Given the description of an element on the screen output the (x, y) to click on. 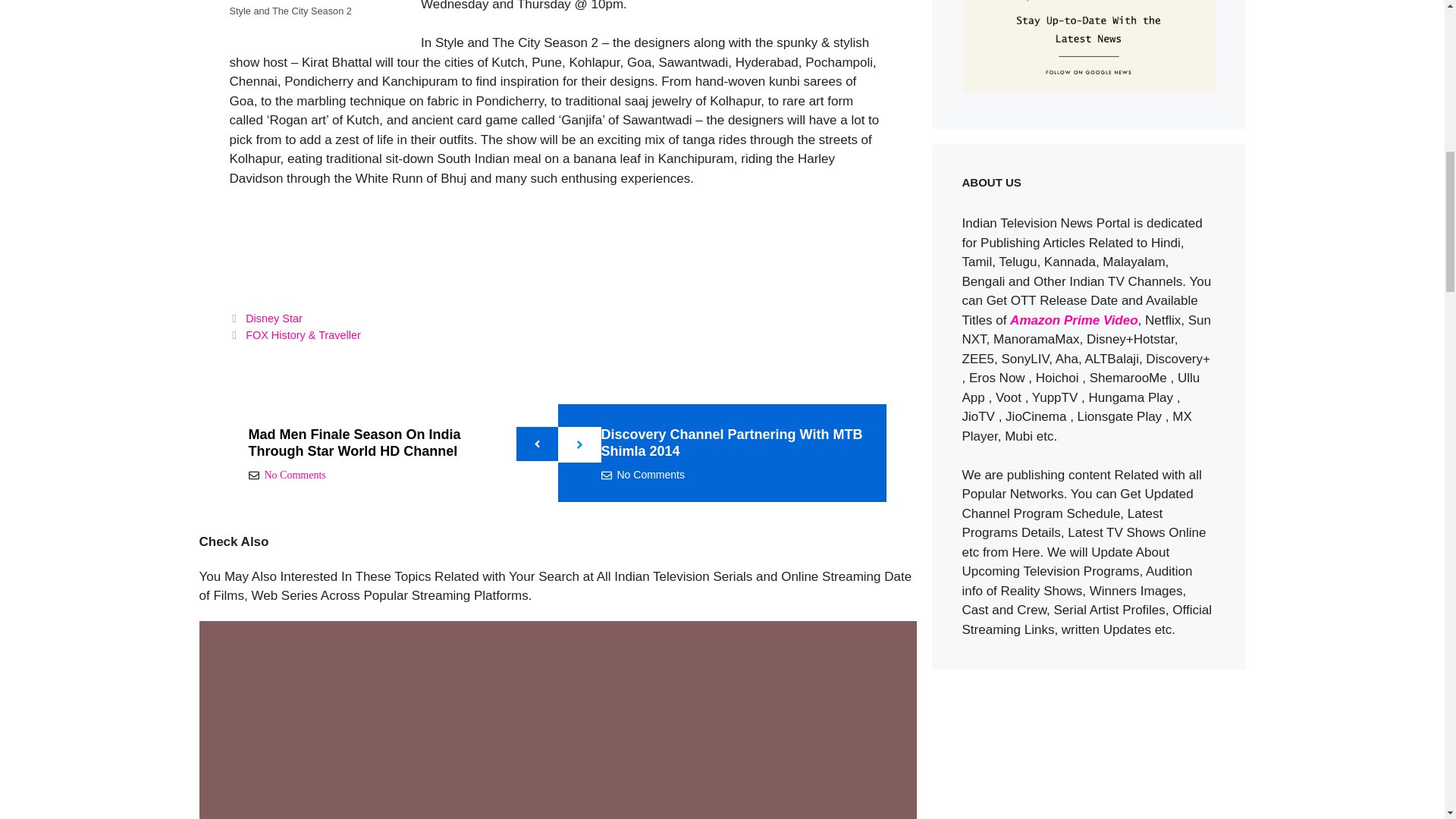
Mad Men Finale Season On India Through Star World HD Channel (354, 442)
Disney Star (274, 318)
